Given the description of an element on the screen output the (x, y) to click on. 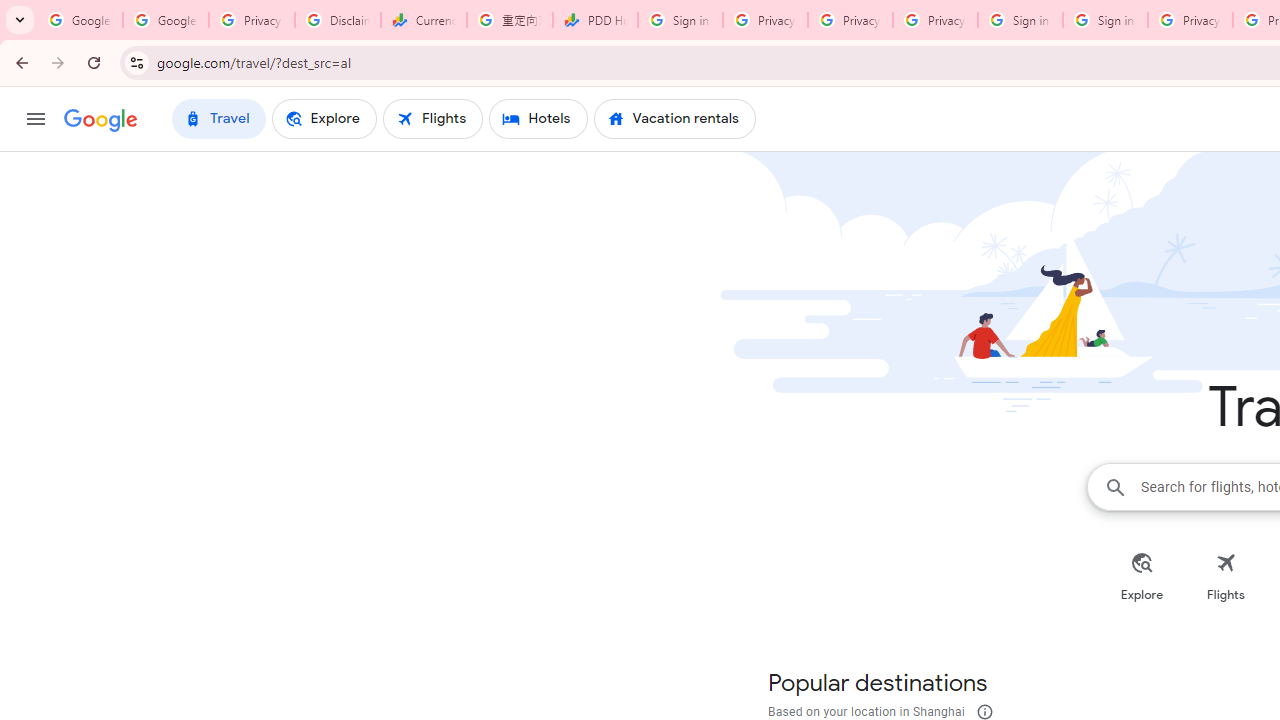
Currencies - Google Finance (424, 20)
Google Workspace Admin Community (79, 20)
Travel (218, 118)
Flights (1226, 576)
Explore (1142, 576)
Explore (1142, 576)
